Given the description of an element on the screen output the (x, y) to click on. 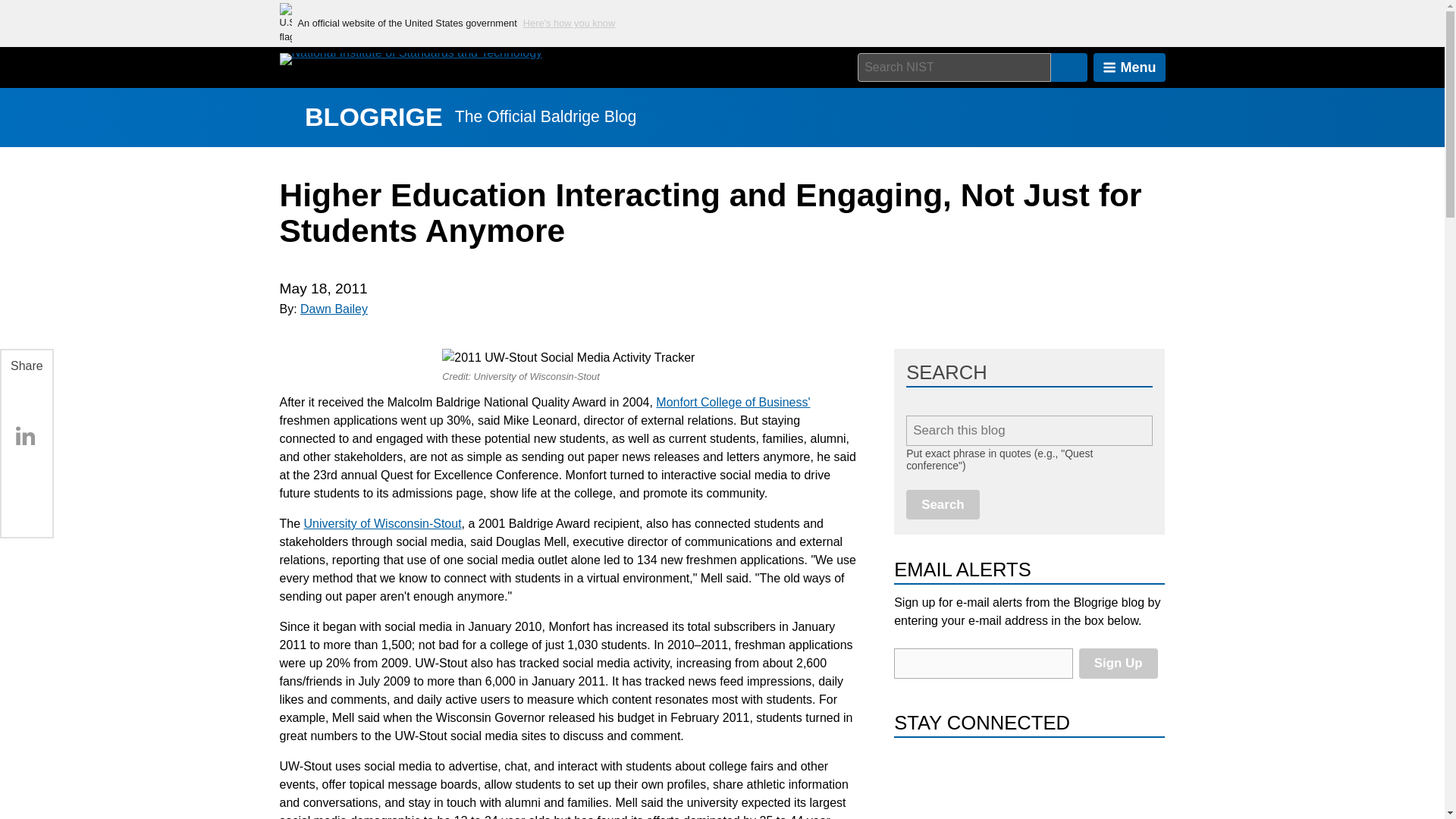
Email (25, 507)
National Institute of Standards and Technology (410, 59)
Menu (1129, 67)
Sign Up (1117, 663)
Search (942, 504)
email (983, 663)
Linkedin (25, 435)
Link to UW-Stout Profile (382, 522)
Youtube (943, 769)
Twitter (25, 471)
Facebook (25, 399)
Link to Monfort (732, 401)
GovDelivery (977, 769)
